Given the description of an element on the screen output the (x, y) to click on. 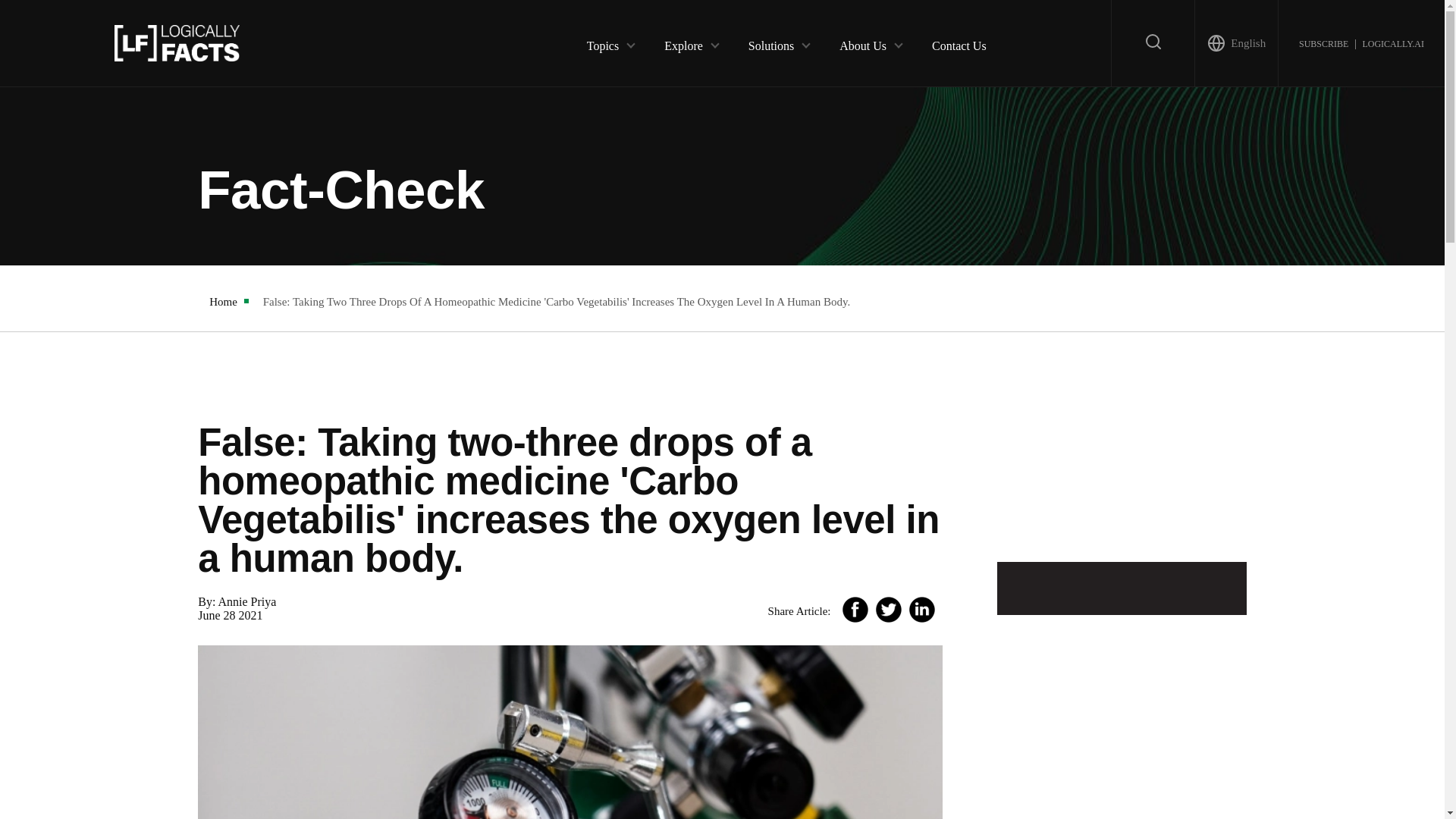
Home (223, 301)
Solutions (770, 42)
Explore (683, 42)
About Us (863, 42)
SUBSCRIBE (1323, 42)
Contact Us (959, 42)
LOGICALLY.AI (1392, 42)
Topics (602, 42)
